Given the description of an element on the screen output the (x, y) to click on. 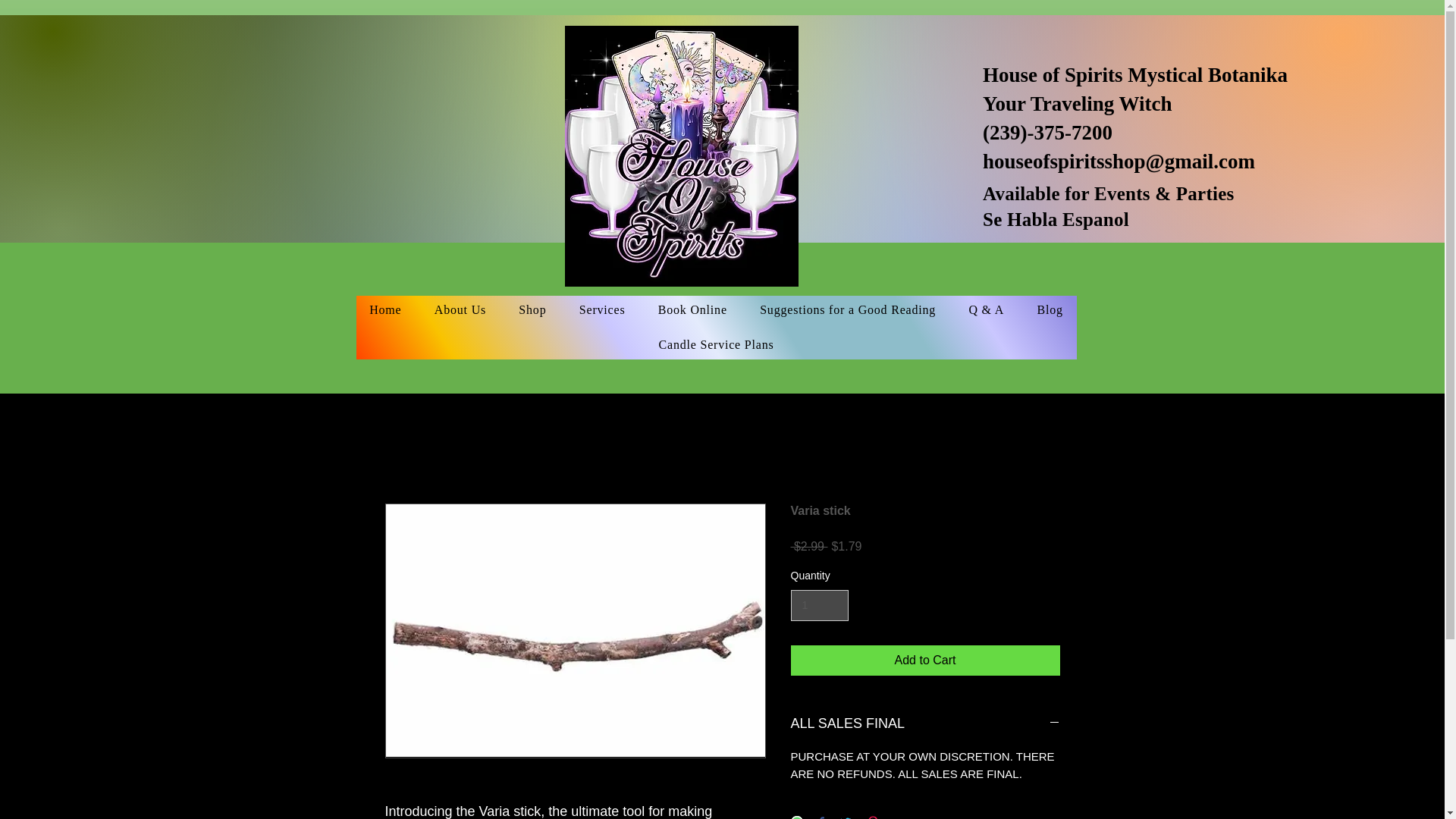
About Us (459, 309)
Services (602, 309)
Suggestions for a Good Reading (847, 309)
House of Spirits Mystical Botanika (1134, 74)
Candle Service Plans (716, 344)
1 (818, 604)
Book Online (692, 309)
ALL SALES FINAL (924, 723)
Add to Cart (924, 660)
Home (385, 309)
Shop (532, 309)
Blog (1050, 309)
